Given the description of an element on the screen output the (x, y) to click on. 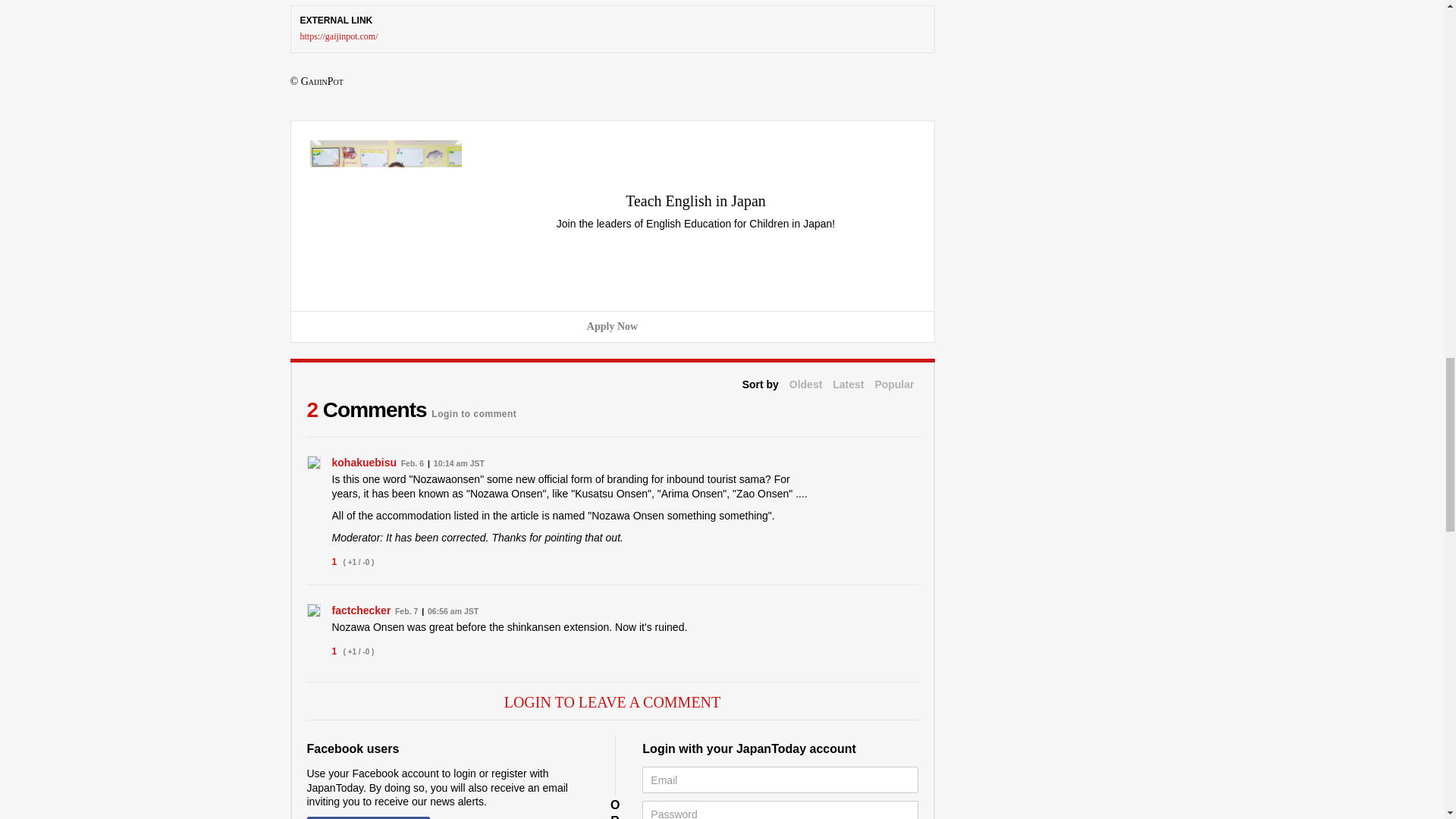
Connect with Facebook (367, 817)
Latest (847, 384)
Login to comment (473, 409)
Oldest (805, 384)
Popularity (894, 384)
